Given the description of an element on the screen output the (x, y) to click on. 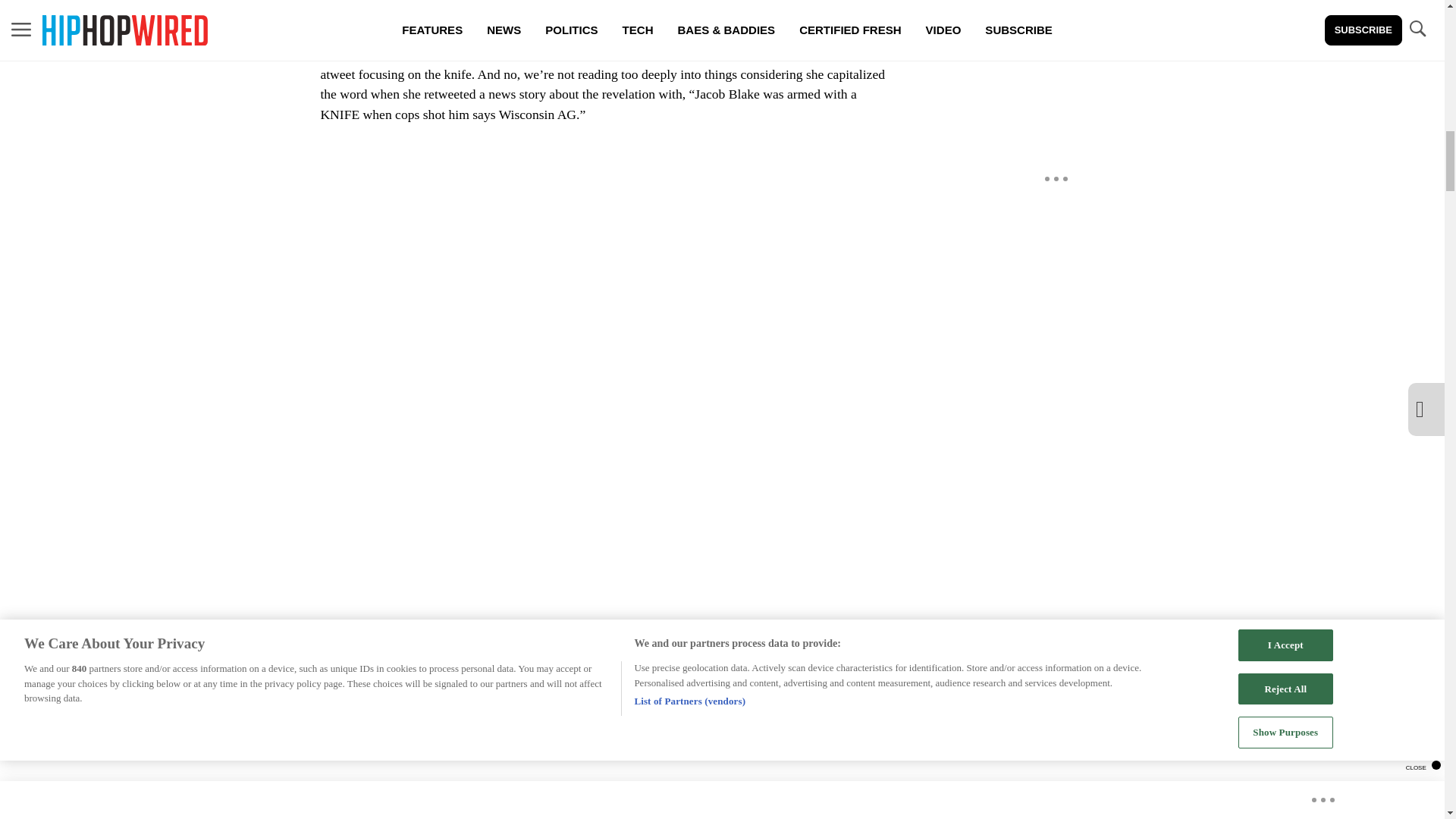
history of bigoted rhetoric (593, 677)
